Given the description of an element on the screen output the (x, y) to click on. 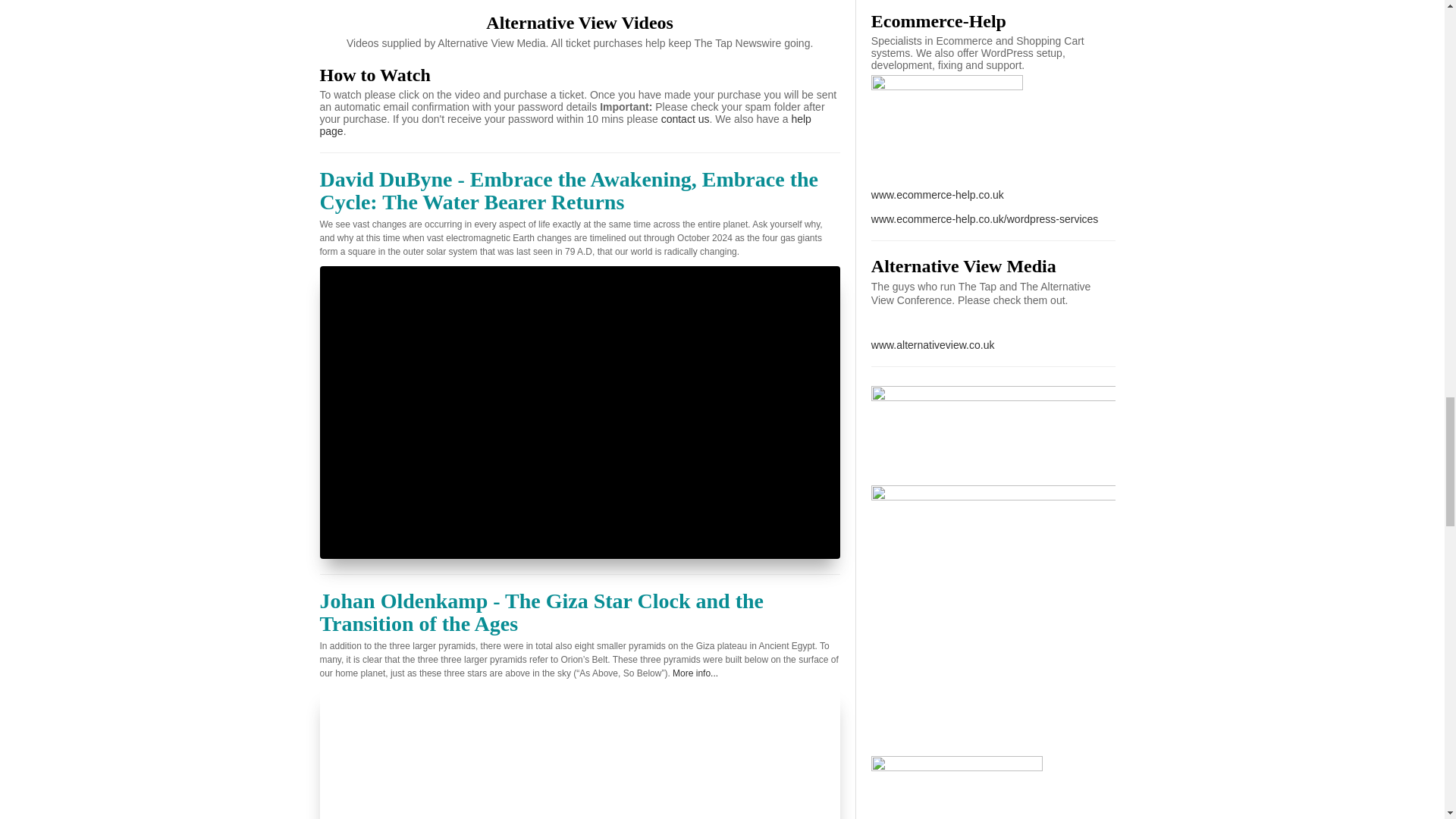
help page (565, 125)
More info... (694, 673)
contact us (685, 119)
